Given the description of an element on the screen output the (x, y) to click on. 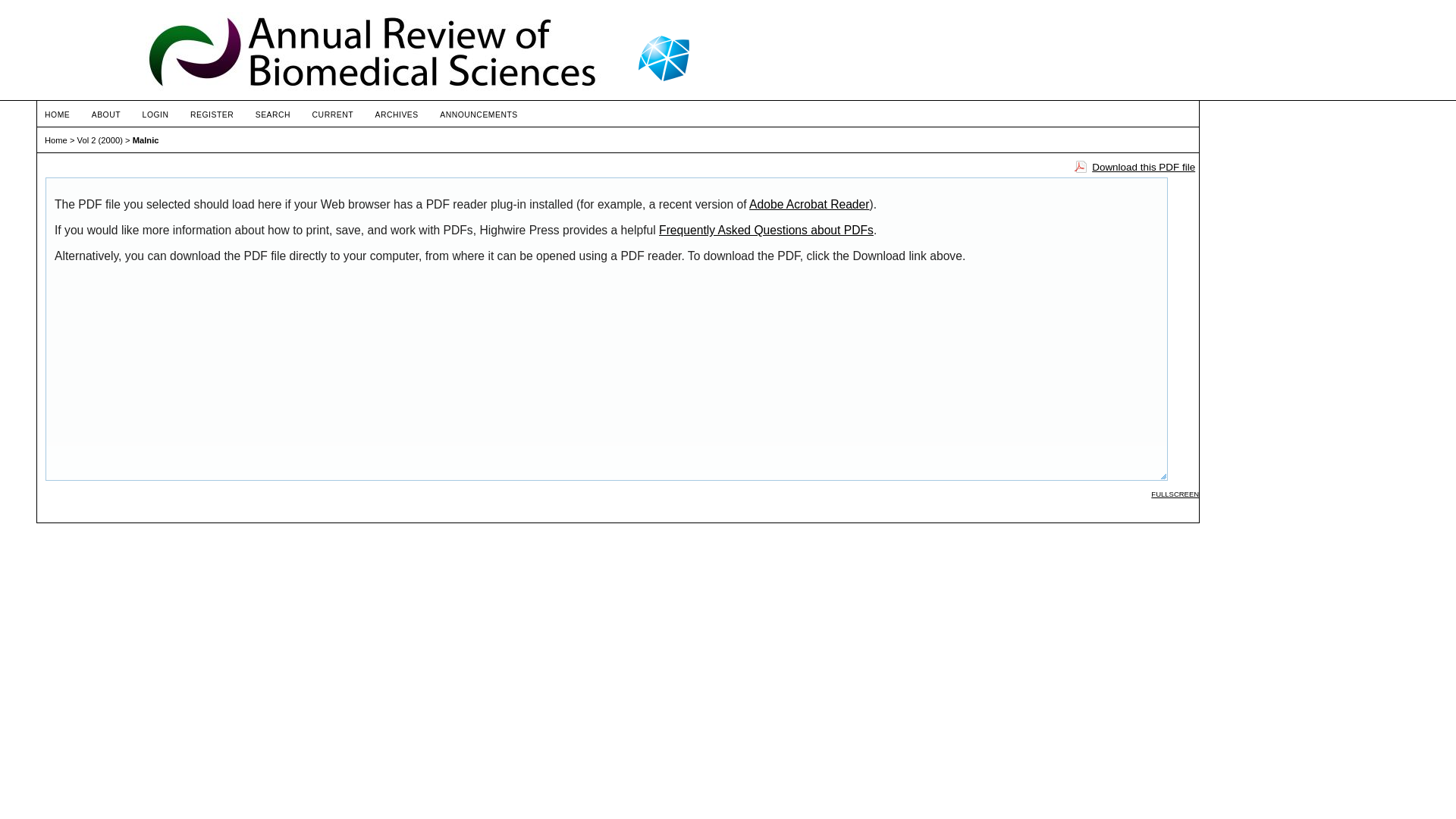
ARCHIVES Element type: text (395, 114)
SEARCH Element type: text (272, 114)
Malnic Element type: text (145, 139)
FULLSCREEN Element type: text (1174, 493)
Frequently Asked Questions about PDFs Element type: text (765, 229)
HOME Element type: text (56, 114)
Adobe Acrobat Reader Element type: text (809, 203)
ABOUT Element type: text (105, 114)
CURRENT Element type: text (332, 114)
Download this PDF file Element type: text (1134, 167)
ANNOUNCEMENTS Element type: text (478, 114)
Vol 2 (2000) Element type: text (99, 139)
Home Element type: text (55, 139)
REGISTER Element type: text (211, 114)
LOGIN Element type: text (155, 114)
